Given the description of an element on the screen output the (x, y) to click on. 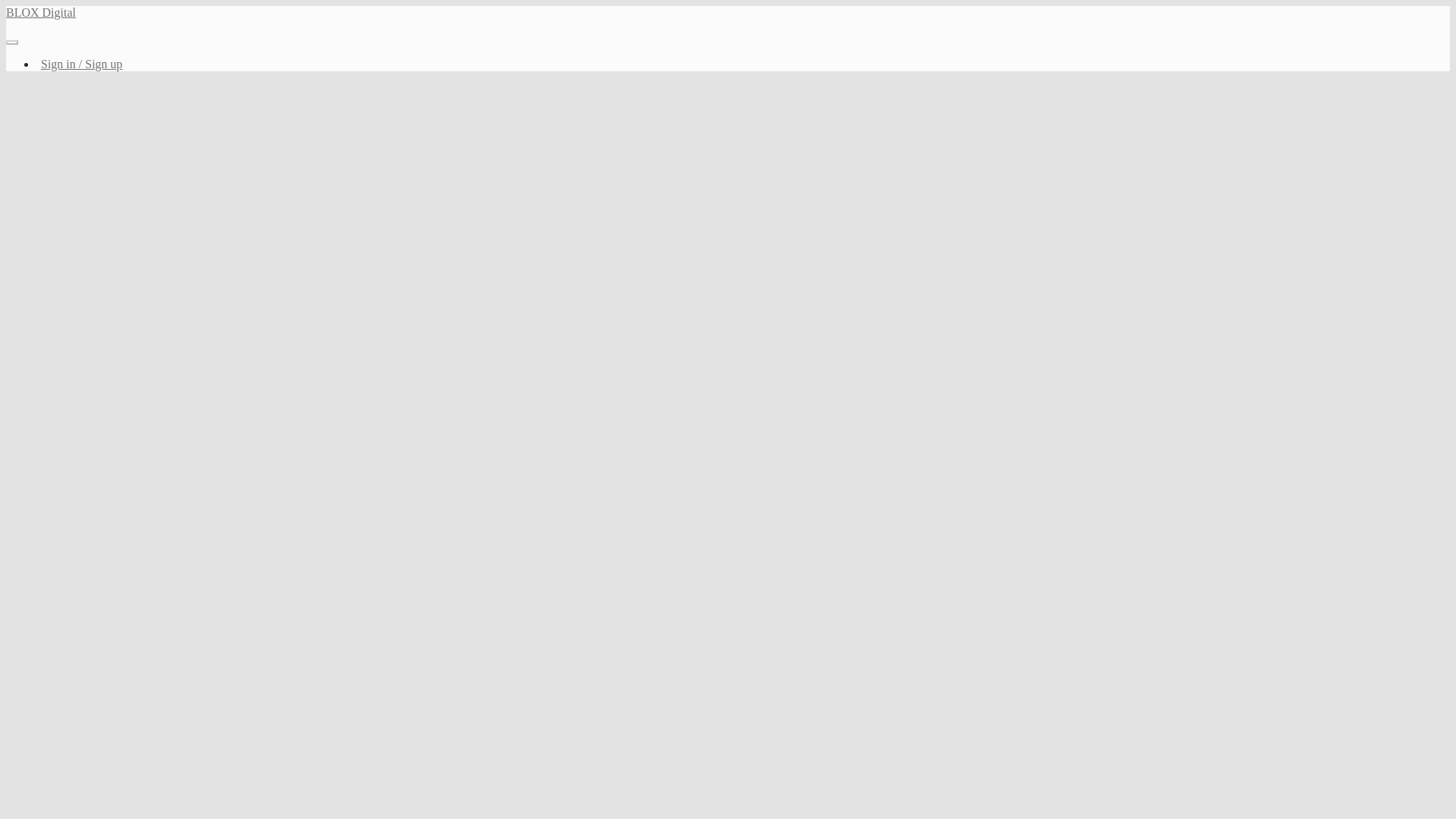
Ideas (443, 66)
Customer support service (587, 429)
Diane Cartwright (404, 112)
General (328, 66)
0 (351, 284)
Post comment as (362, 379)
BLOX CMS (387, 66)
Oldest first (878, 342)
Follow (891, 284)
Post comment as (362, 379)
